Given the description of an element on the screen output the (x, y) to click on. 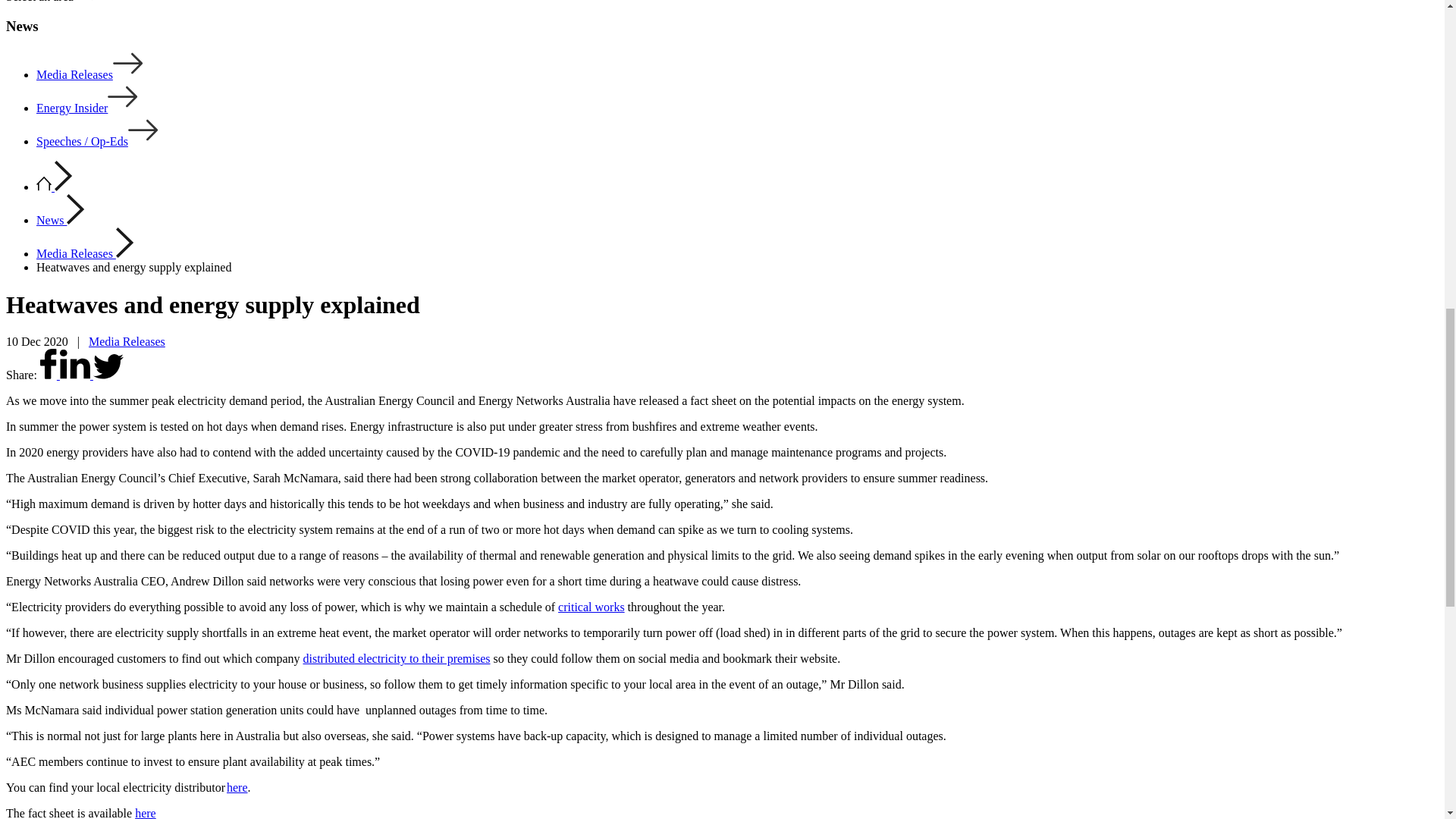
Media Releases (89, 74)
News (51, 219)
Energy Insider (87, 107)
